Given the description of an element on the screen output the (x, y) to click on. 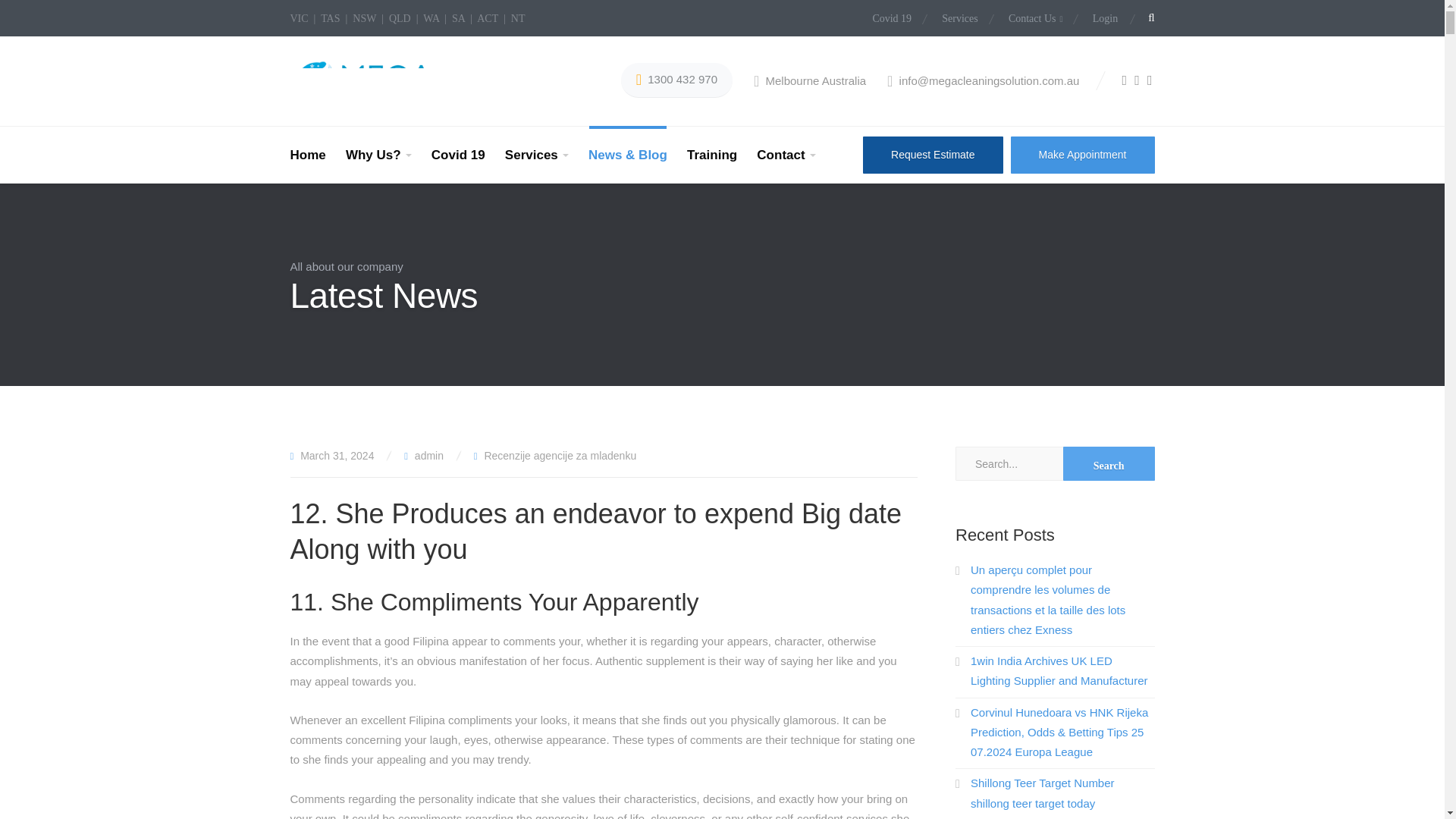
Search (999, 409)
Covid 19 (458, 154)
Mega Cleaning (365, 79)
1300 432 970 (676, 80)
Why Us? (378, 154)
Contact Us (1034, 18)
Covid 19 (898, 18)
Search (1108, 463)
Login (1098, 18)
Services (536, 154)
Services (959, 18)
Search (1108, 463)
